Given the description of an element on the screen output the (x, y) to click on. 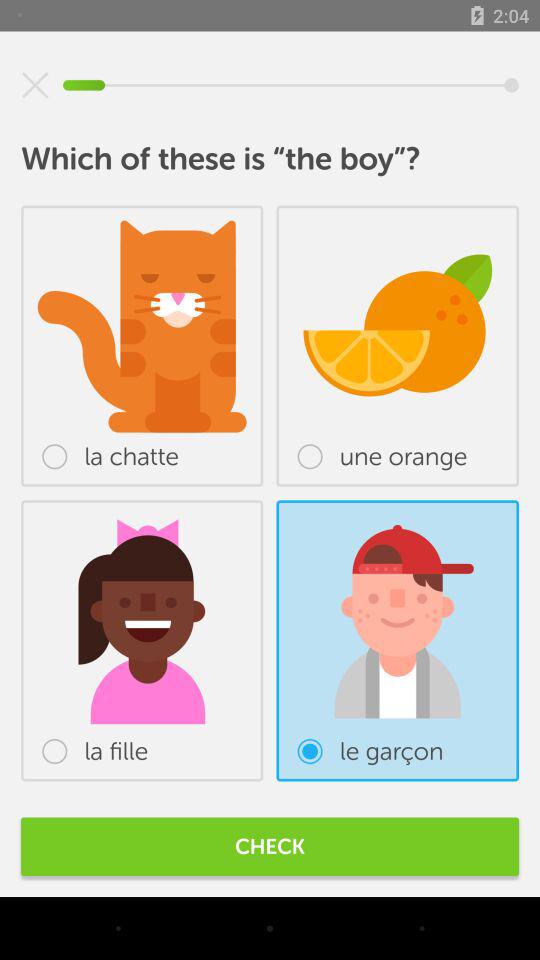
exit the course (35, 85)
